Given the description of an element on the screen output the (x, y) to click on. 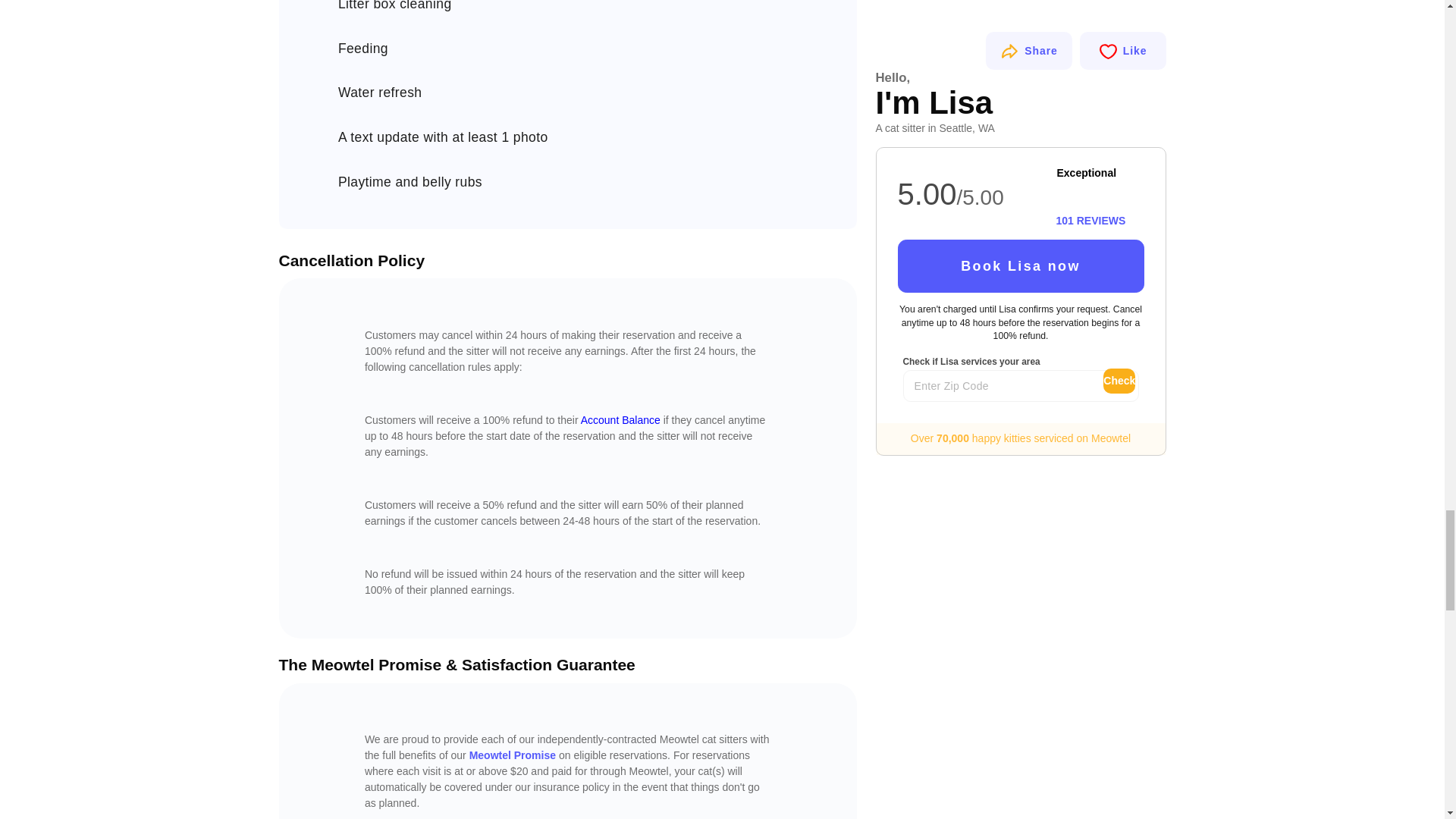
Account Balance (620, 419)
Account Balance (620, 419)
Meowtel Promise (512, 755)
